Given the description of an element on the screen output the (x, y) to click on. 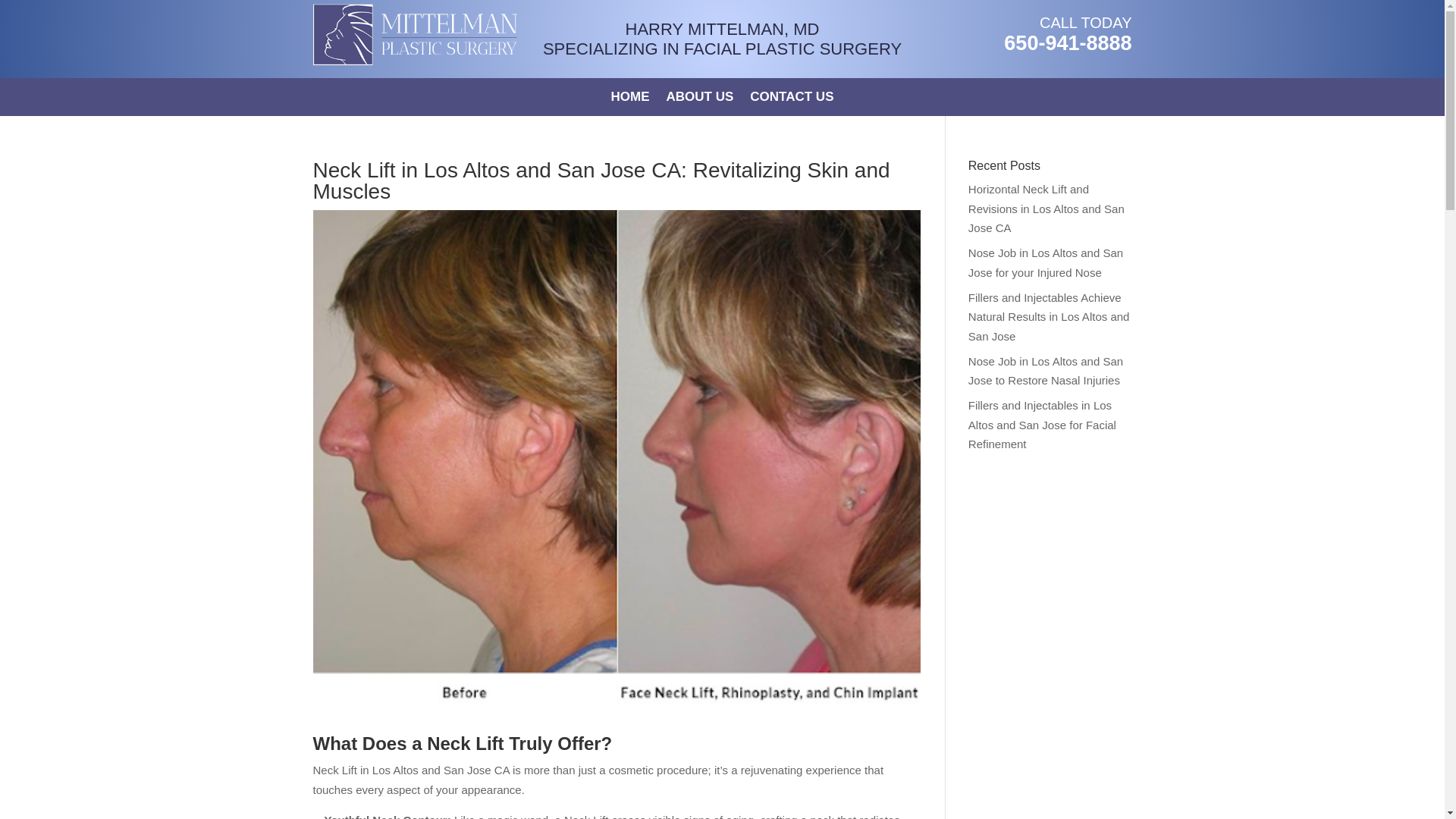
Nose Job in Los Altos and San Jose for your Injured Nose (1045, 262)
Nose Job in Los Altos and San Jose to Restore Nasal Injuries (1045, 370)
HOME (630, 99)
650-941-8888 (1067, 42)
ABOUT US (699, 99)
CONTACT US (790, 99)
